Given the description of an element on the screen output the (x, y) to click on. 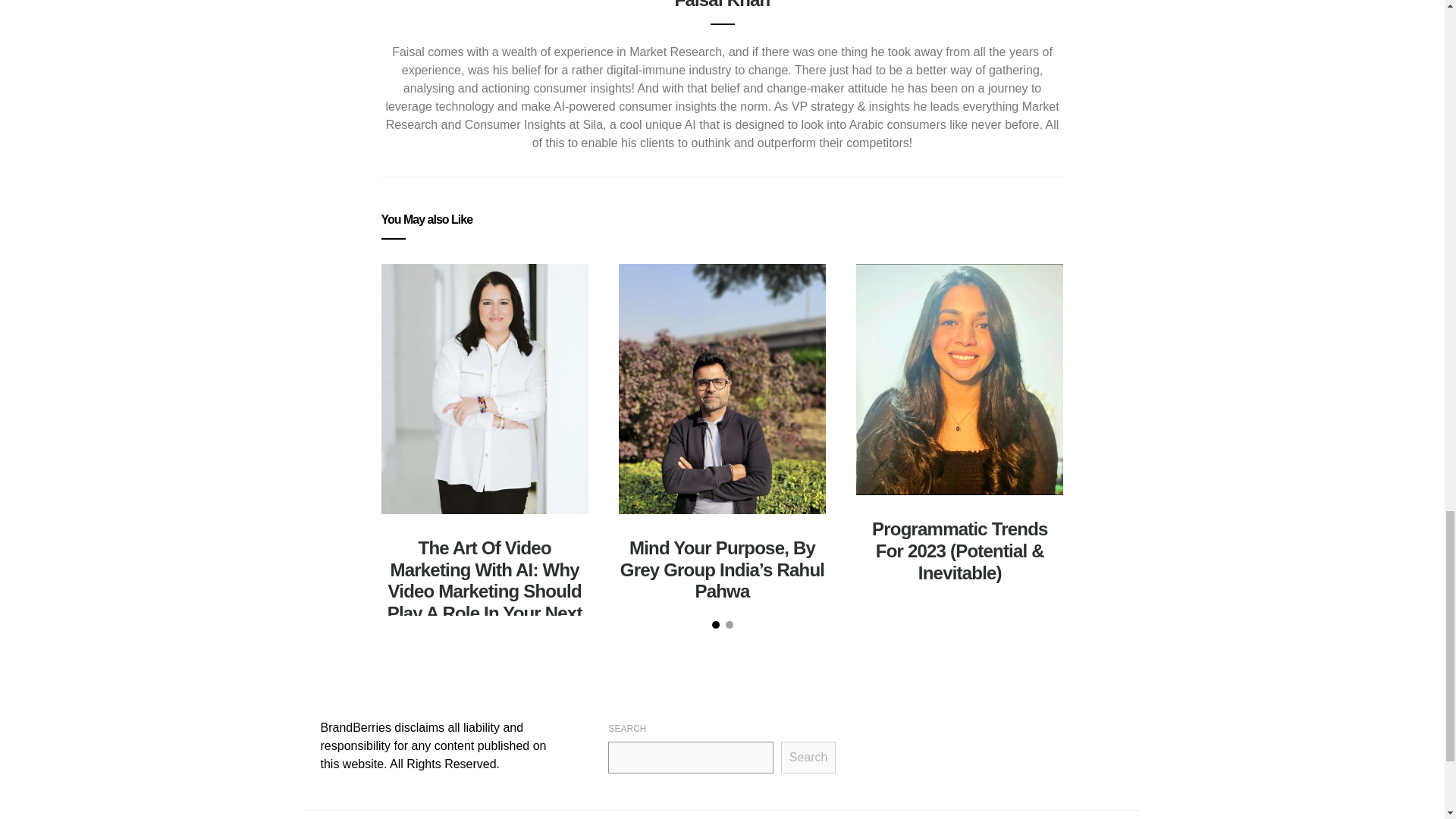
Posts by Faisal Khan (722, 4)
Faisal Khan (722, 4)
